Given the description of an element on the screen output the (x, y) to click on. 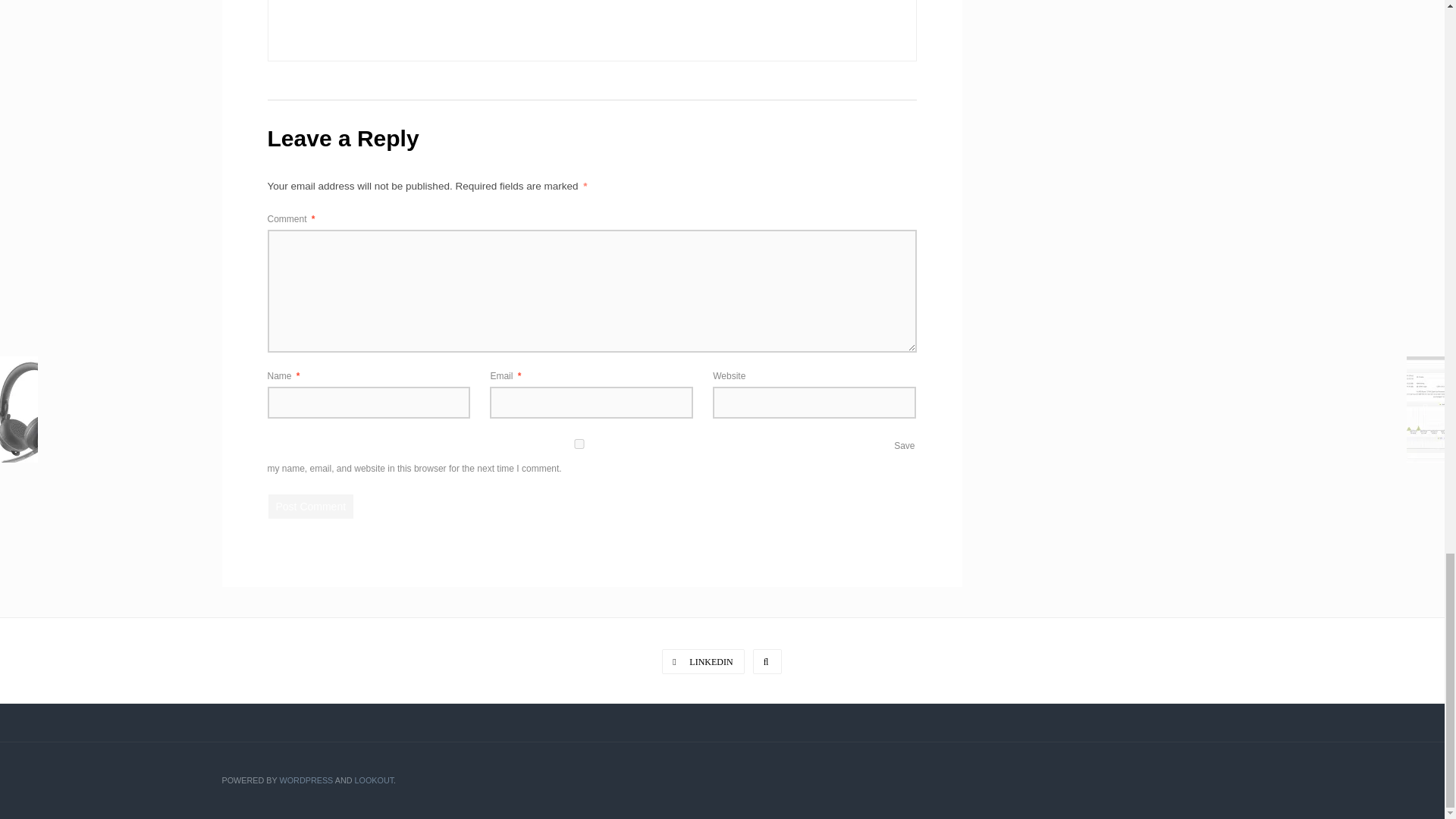
LINKEDIN (703, 661)
Post Comment (310, 505)
WORDPRESS (306, 779)
LinkedIn (703, 661)
yes (578, 443)
Lookout Theme (374, 779)
Post Comment (310, 505)
LOOKOUT (374, 779)
WordPress (306, 779)
